Given the description of an element on the screen output the (x, y) to click on. 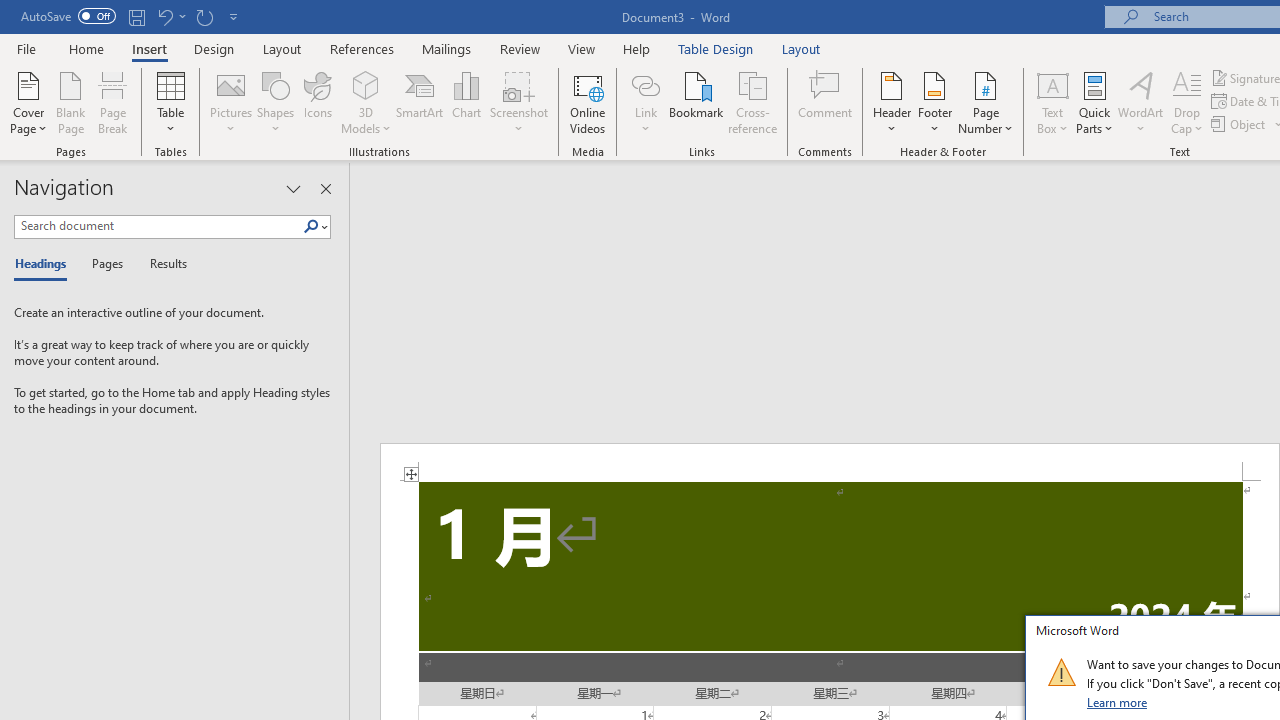
Text Box (1052, 102)
Page Break (113, 102)
Comment (825, 102)
Object... (1240, 124)
Screenshot (518, 102)
